Given the description of an element on the screen output the (x, y) to click on. 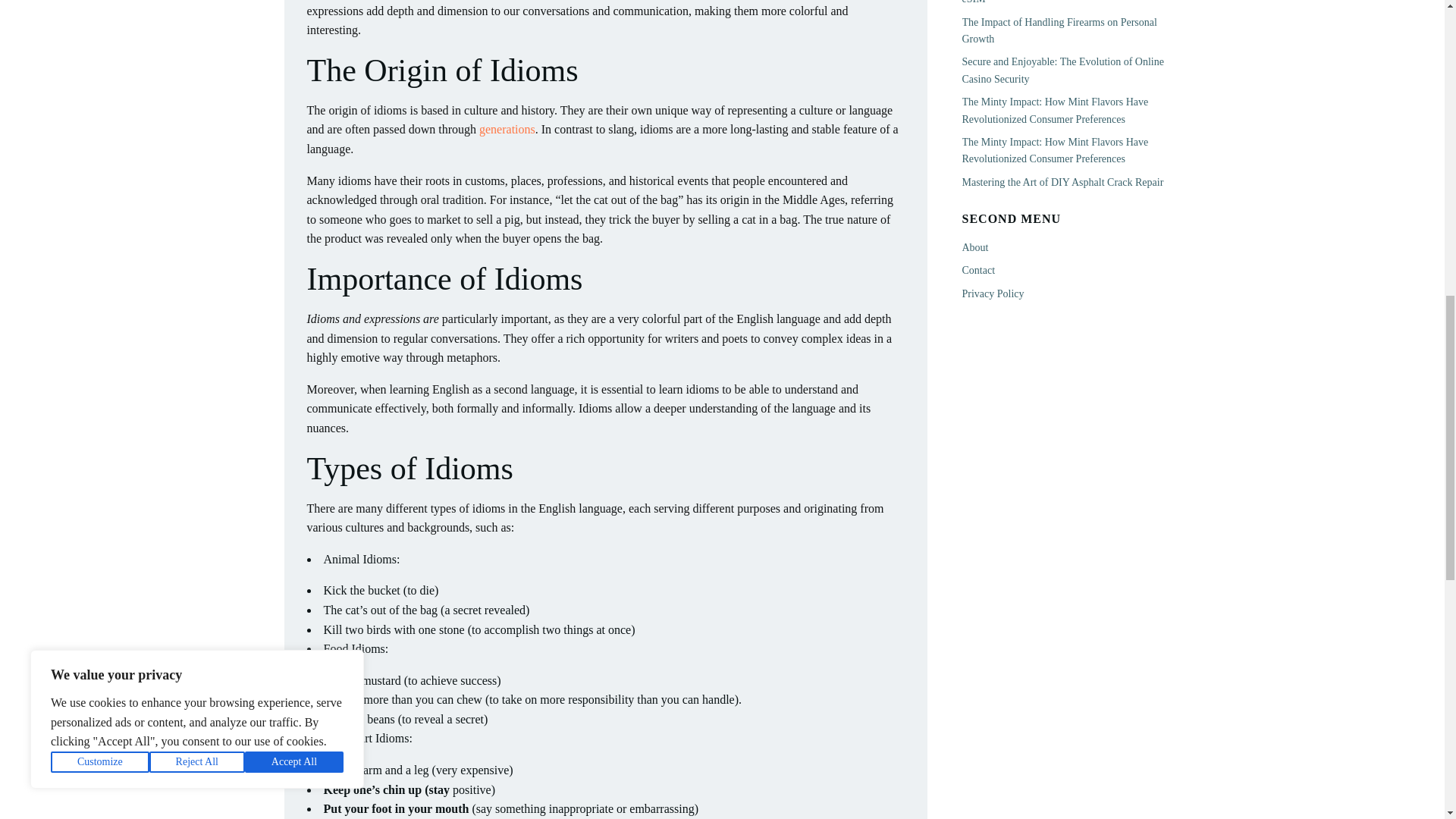
generations (507, 128)
